Given the description of an element on the screen output the (x, y) to click on. 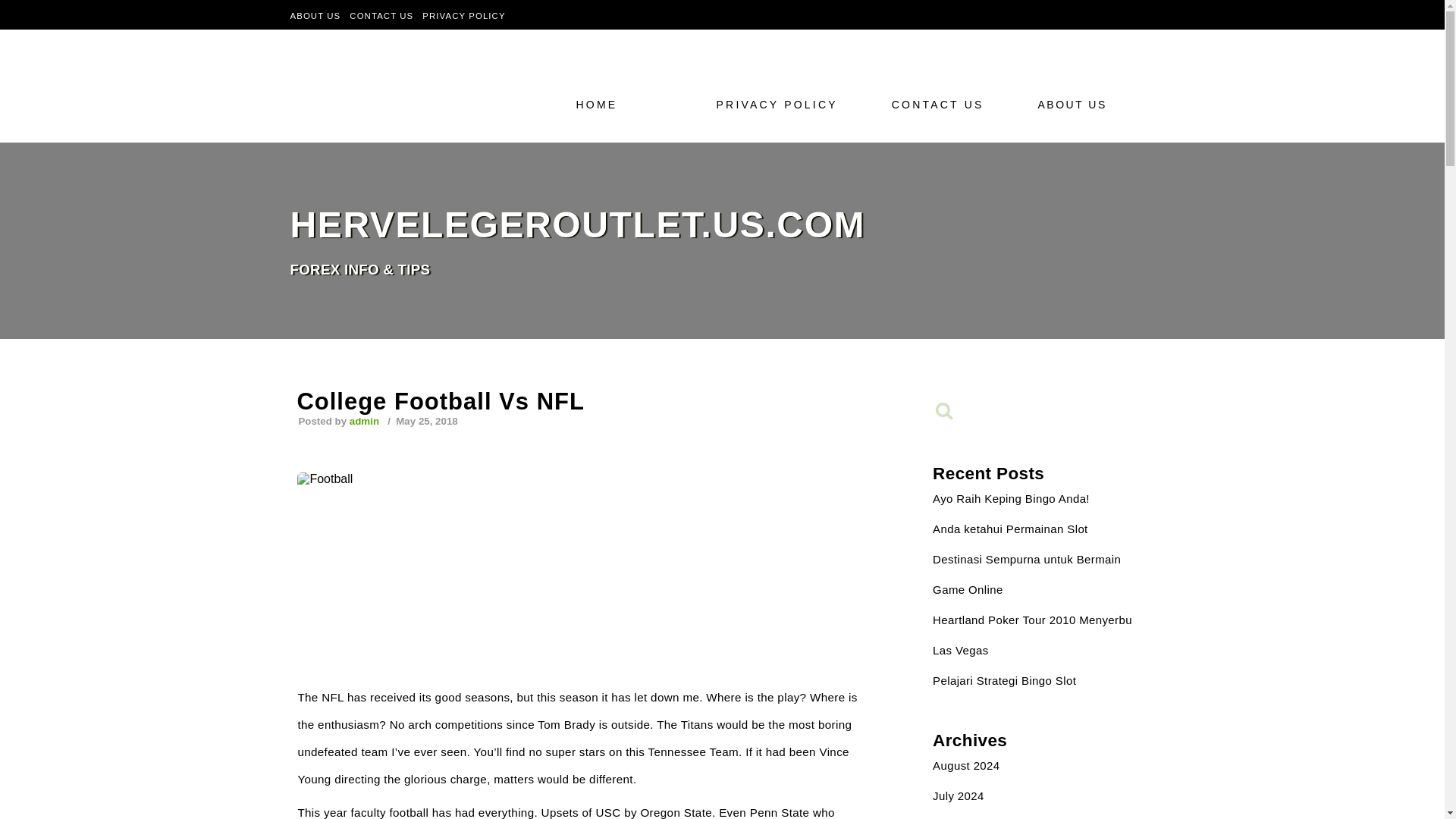
Ayo Raih Keping Bingo Anda! (1011, 498)
Heartland Poker Tour 2010 Menyerbu Las Vegas (1032, 634)
CONTACT US (381, 15)
July 2024 (958, 795)
ABOUT US (1084, 104)
HOME (623, 104)
May 25, 2018 (425, 420)
Anda ketahui Permainan Slot (1010, 528)
PRIVACY POLICY (780, 104)
August 2024 (965, 765)
